Given the description of an element on the screen output the (x, y) to click on. 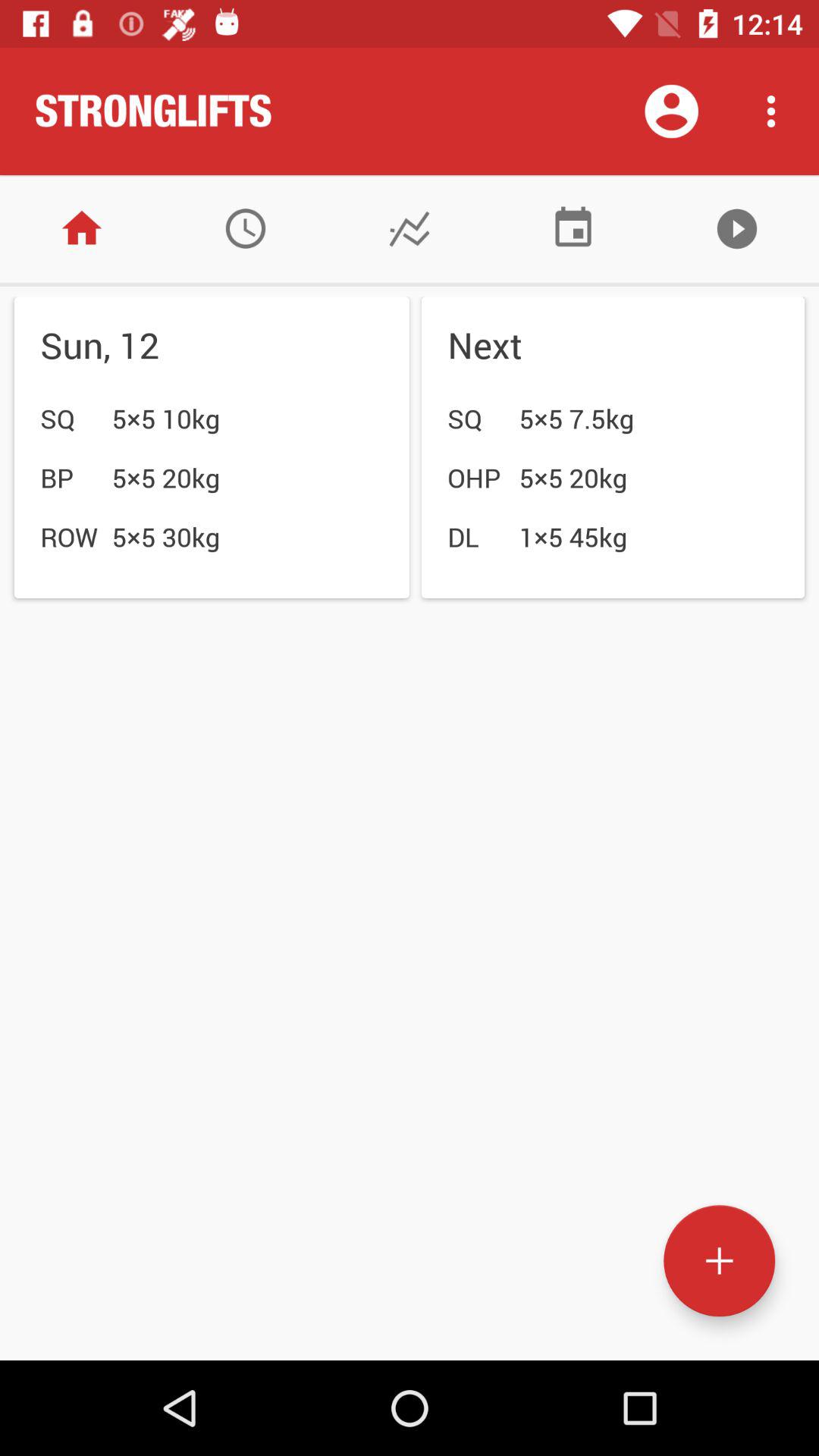
switch to calender (573, 228)
